Given the description of an element on the screen output the (x, y) to click on. 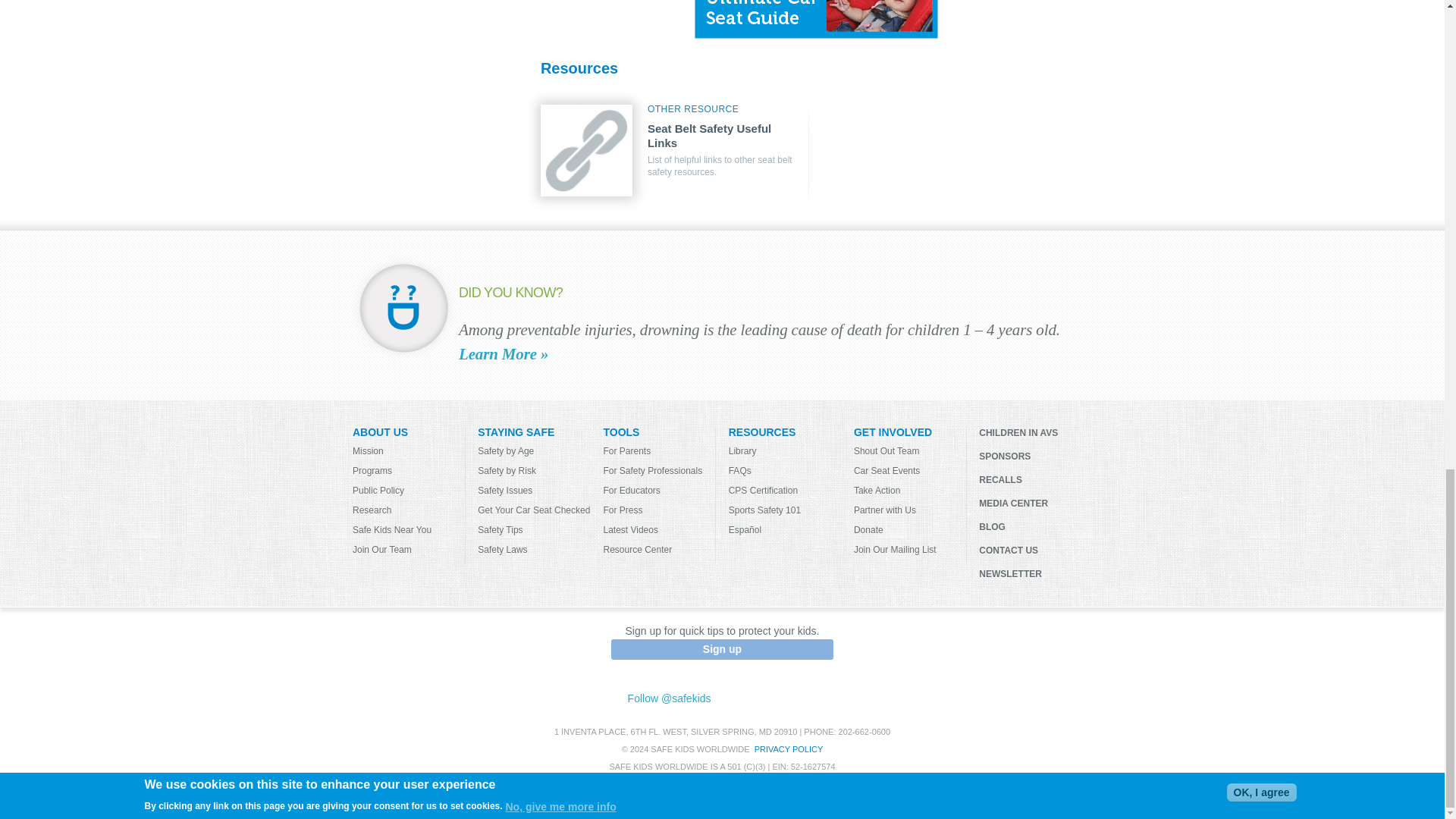
Our Research helps us find ways to keep kids safe! (408, 509)
Find a Car Seat Check-up Event or Inspection Station! (534, 509)
Safety Issues  (534, 490)
Find Safety Tips by Risk Area (534, 469)
Find Safety Tips to Keep Your Kids Safe! (534, 529)
Seat Belt Safety Useful Links (586, 149)
Sign up (721, 649)
Find Safety Tips by Age (534, 450)
